Given the description of an element on the screen output the (x, y) to click on. 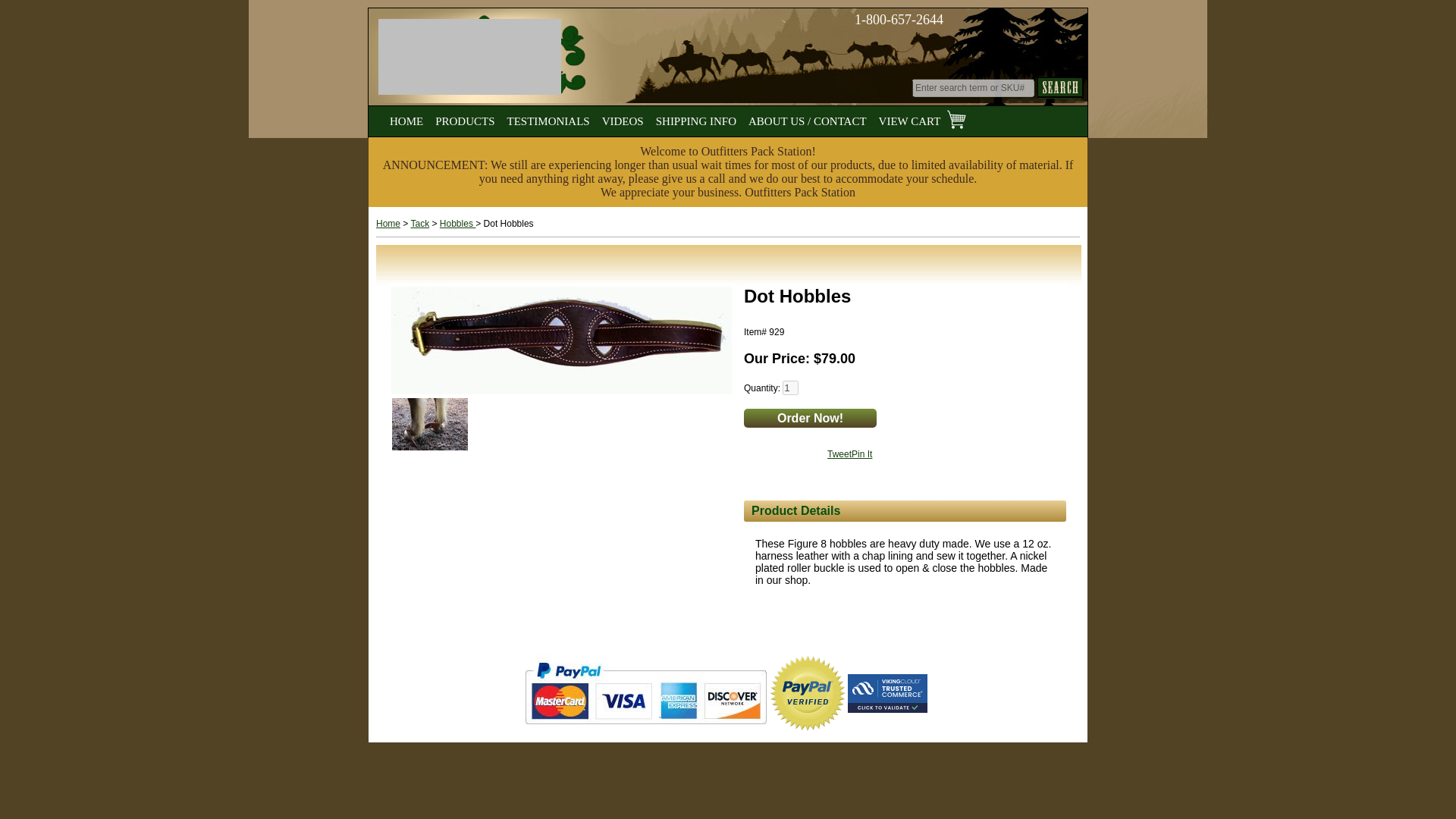
TESTIMONIALS (547, 117)
PRODUCTS (465, 117)
Tack (419, 223)
VIEW CART (922, 117)
Order Now! (810, 417)
HOME (406, 117)
SHIPPING INFO (696, 117)
1 (790, 387)
VIDEOS (622, 117)
Hobbles (457, 223)
